Given the description of an element on the screen output the (x, y) to click on. 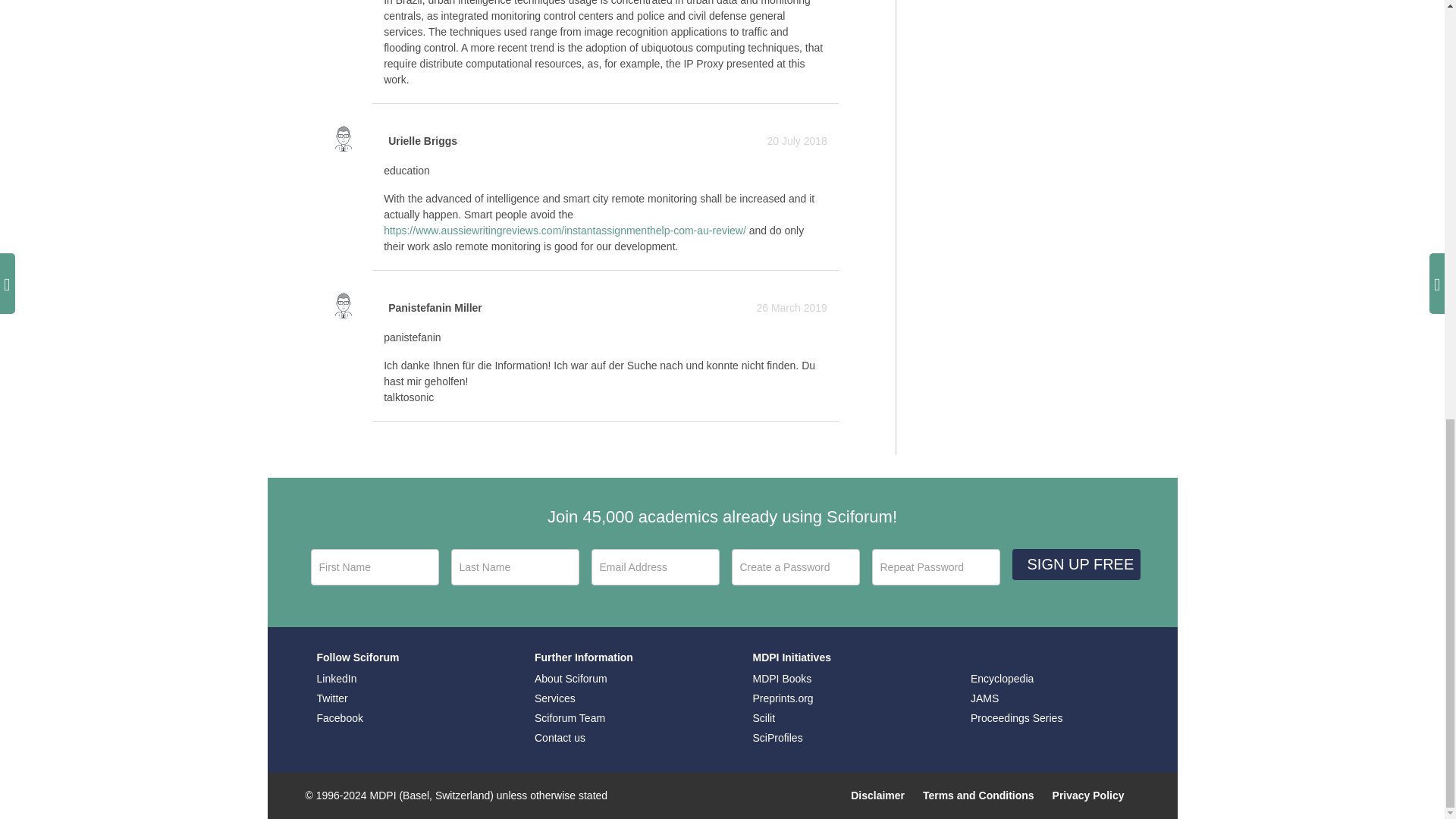
First name (375, 566)
Confirm password (936, 566)
Sign Up Free (1075, 563)
Last name (513, 566)
Email (655, 566)
